Given the description of an element on the screen output the (x, y) to click on. 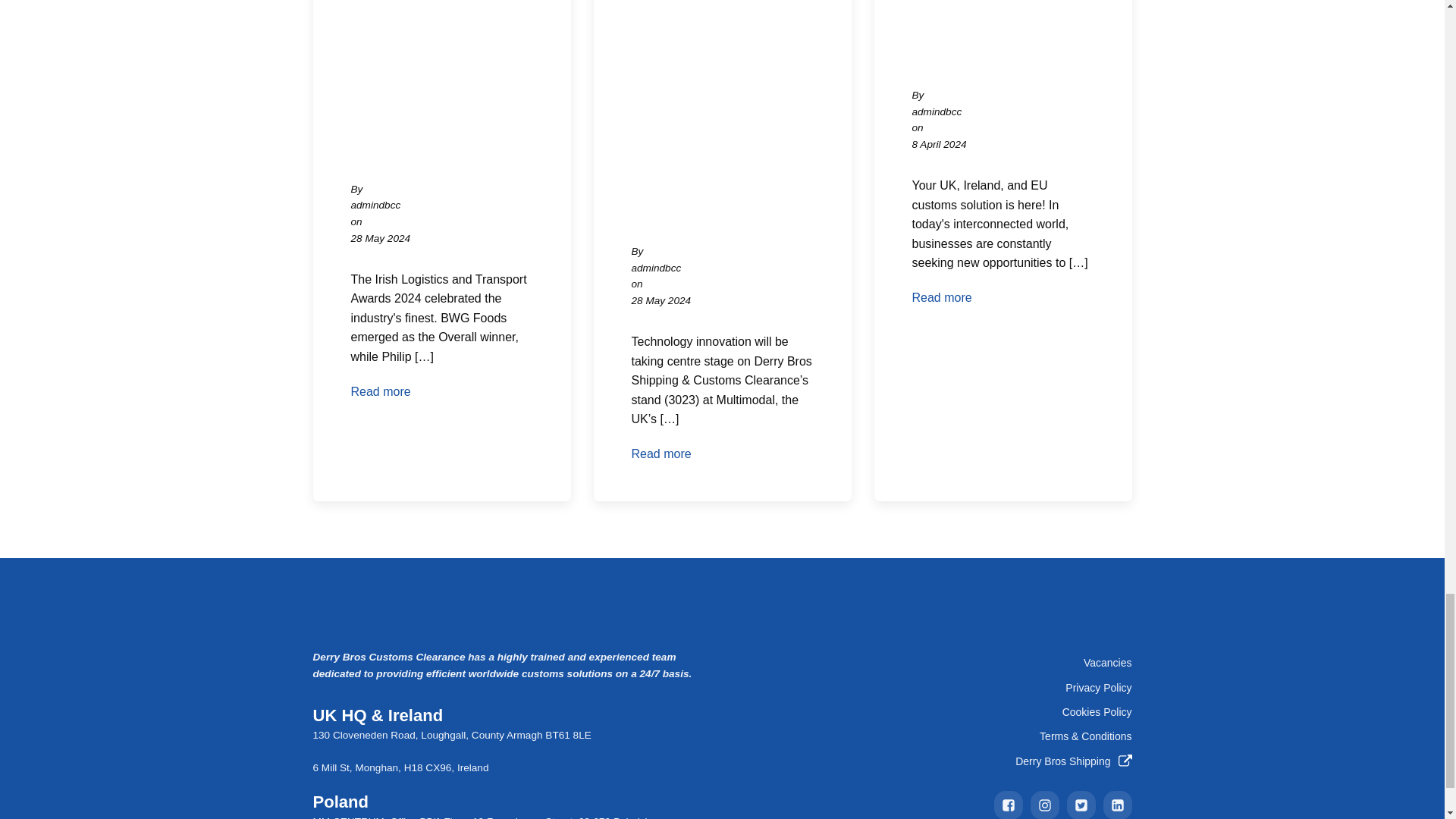
Vacancies (1107, 662)
